Given the description of an element on the screen output the (x, y) to click on. 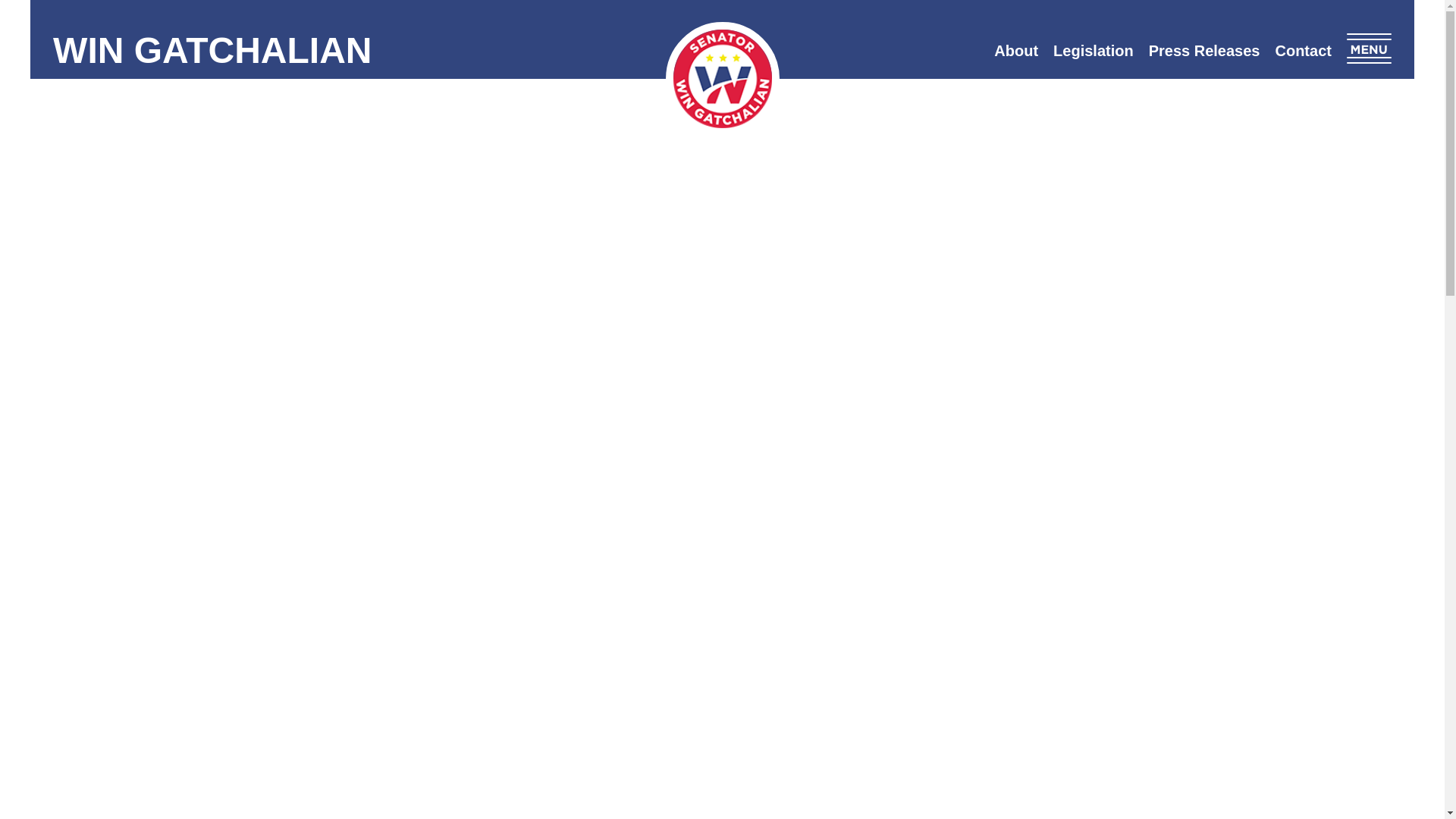
About (1016, 50)
Press Releases (1204, 50)
Legislation (1093, 50)
Contact (1302, 50)
